Given the description of an element on the screen output the (x, y) to click on. 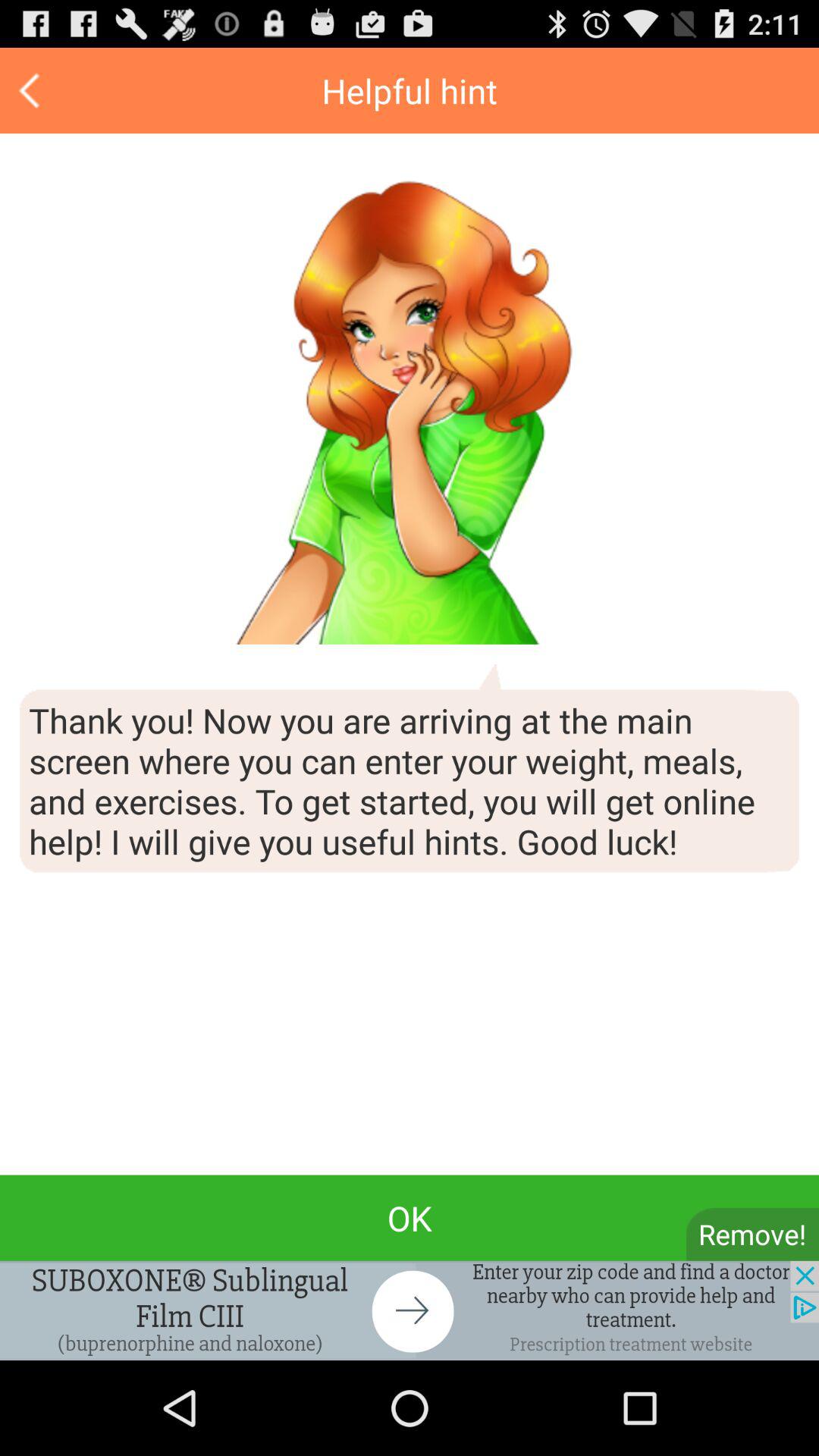
go back (31, 90)
